Given the description of an element on the screen output the (x, y) to click on. 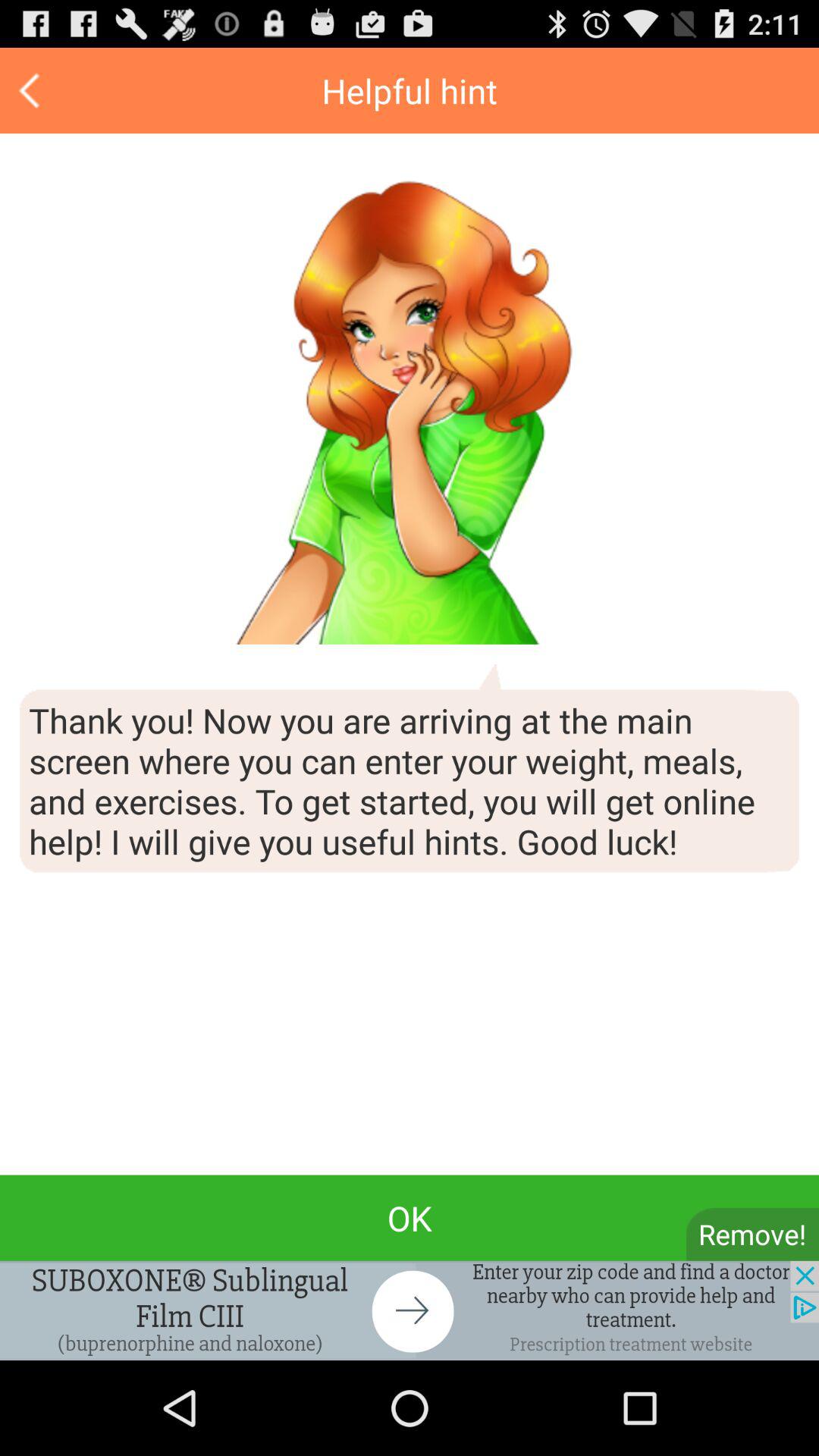
go back (31, 90)
